Given the description of an element on the screen output the (x, y) to click on. 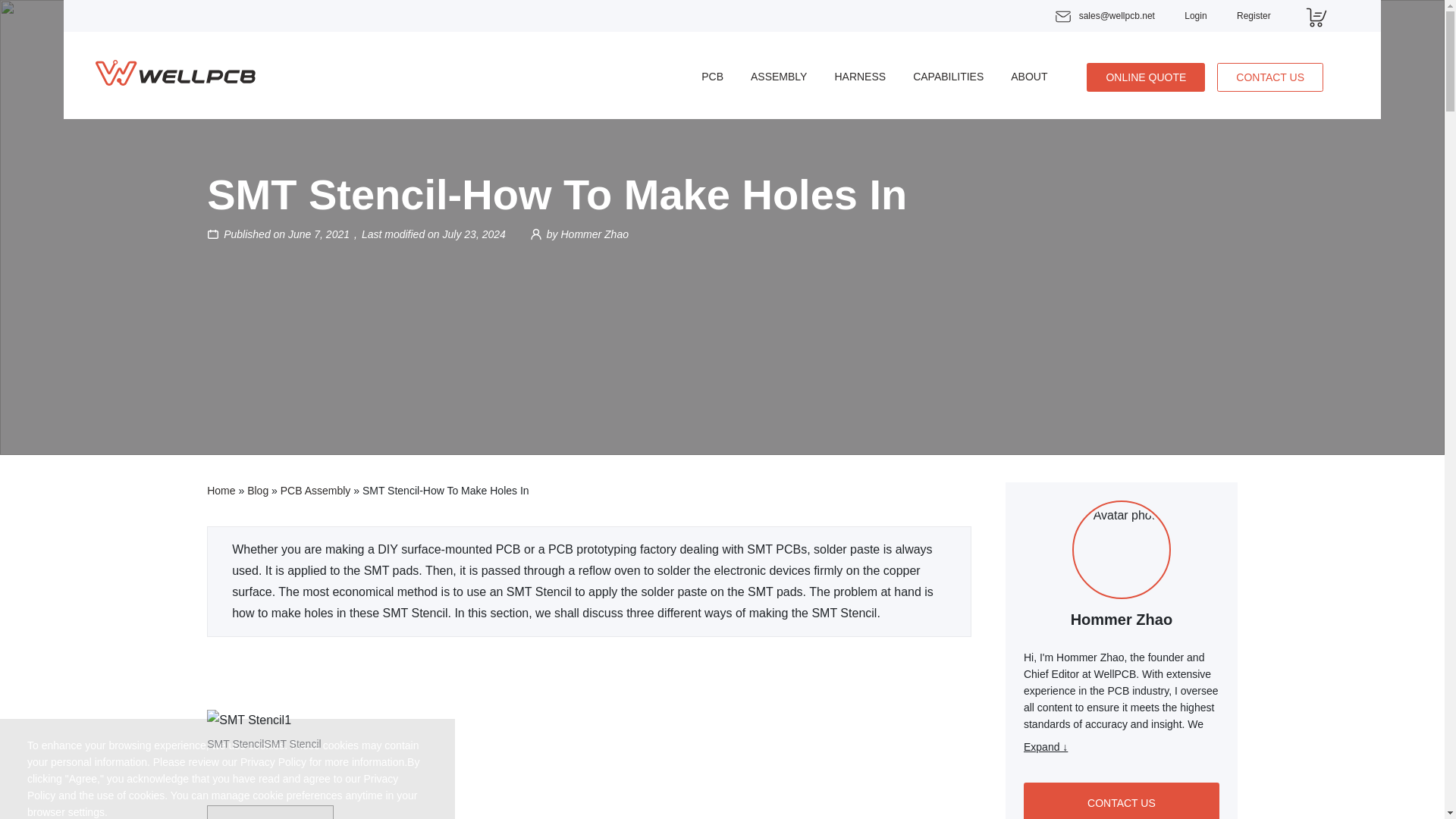
CONTACT US (1270, 77)
HARNESS (859, 76)
ABOUT (1028, 76)
CAPABILITIES (948, 76)
ONLINE QUOTE (1145, 77)
Register (1253, 15)
PCB (712, 76)
ASSEMBLY (778, 76)
